Given the description of an element on the screen output the (x, y) to click on. 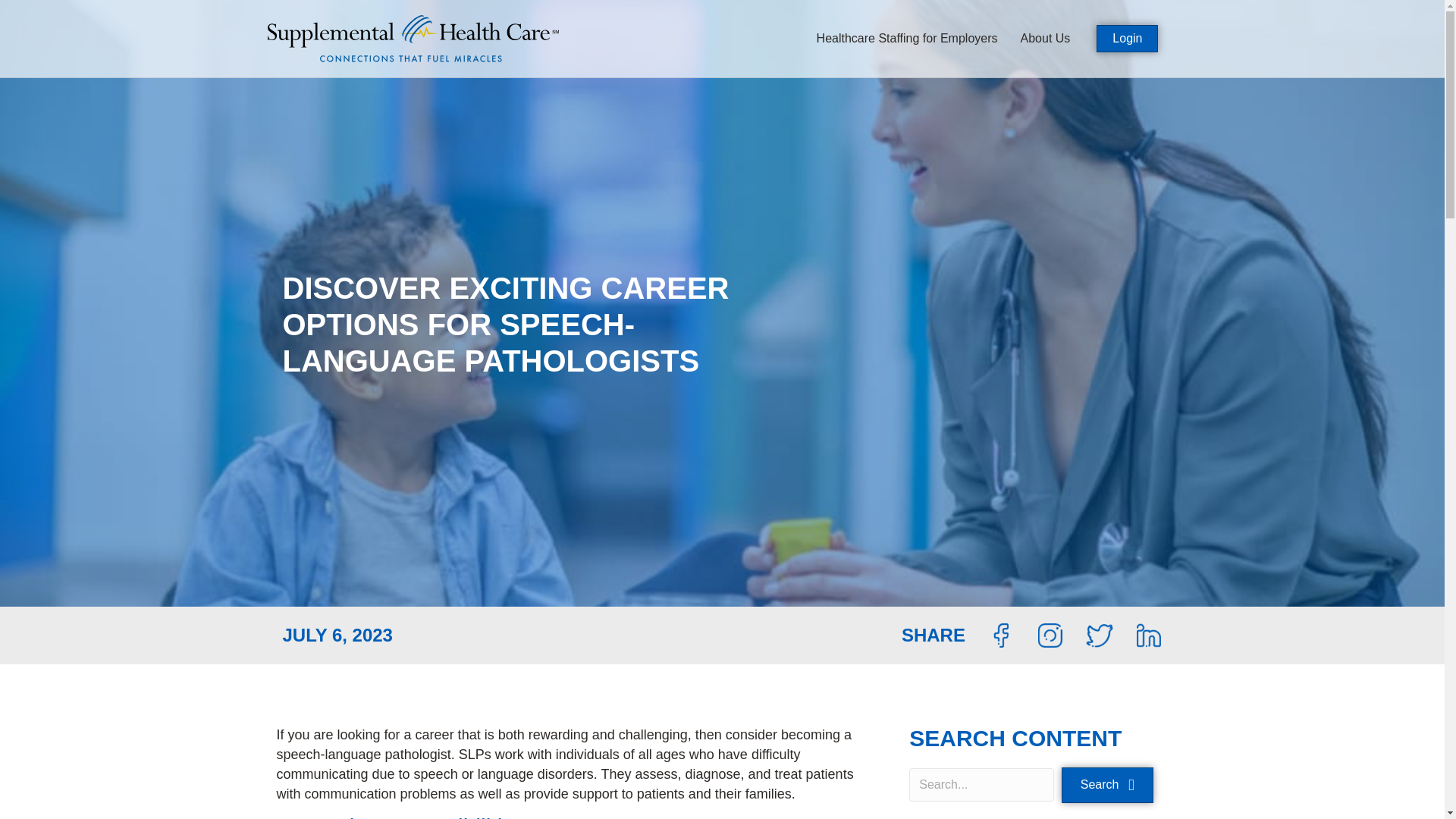
Search (1107, 785)
Healthcare Staffing for Employers (907, 38)
About Us (1045, 38)
Login (1126, 38)
